Given the description of an element on the screen output the (x, y) to click on. 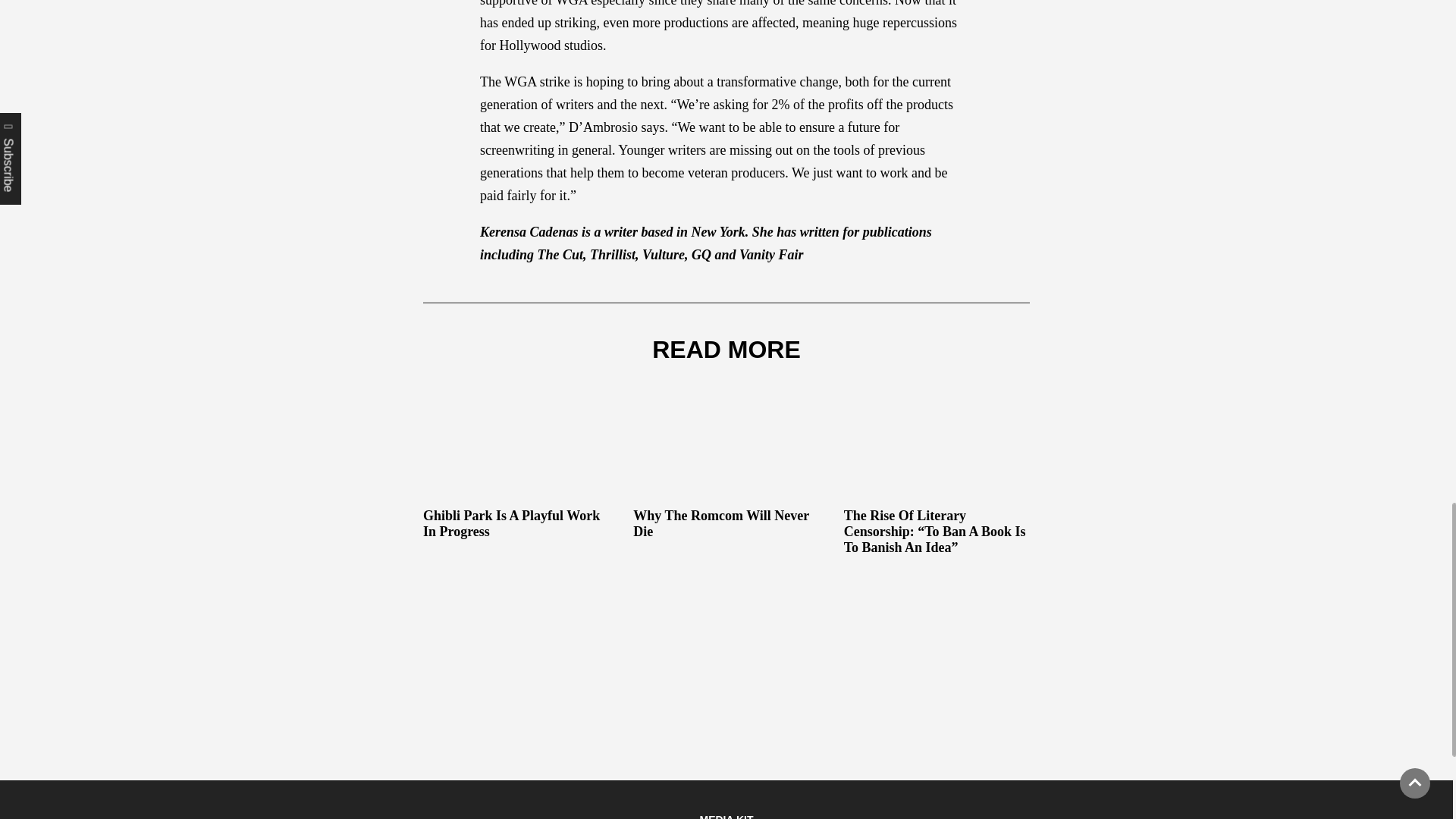
Why The Romcom Will Never Die (725, 466)
Ghibli Park Is A Playful Work In Progress  (515, 466)
MEDIA KIT (725, 816)
